Given the description of an element on the screen output the (x, y) to click on. 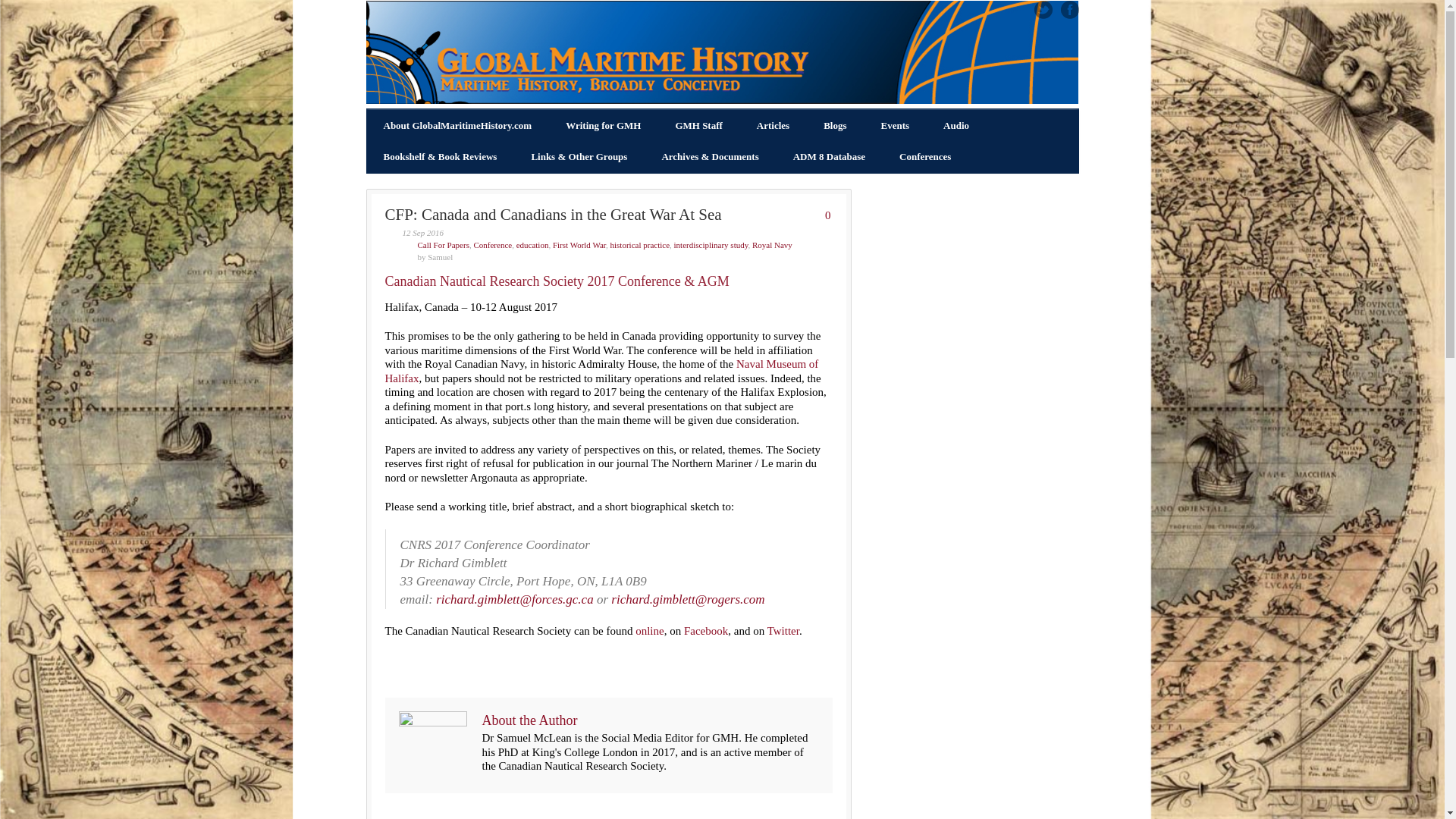
GMH Staff (698, 125)
Articles (772, 125)
Writing for GMH (603, 125)
About GlobalMaritimeHistory.com (458, 125)
